Given the description of an element on the screen output the (x, y) to click on. 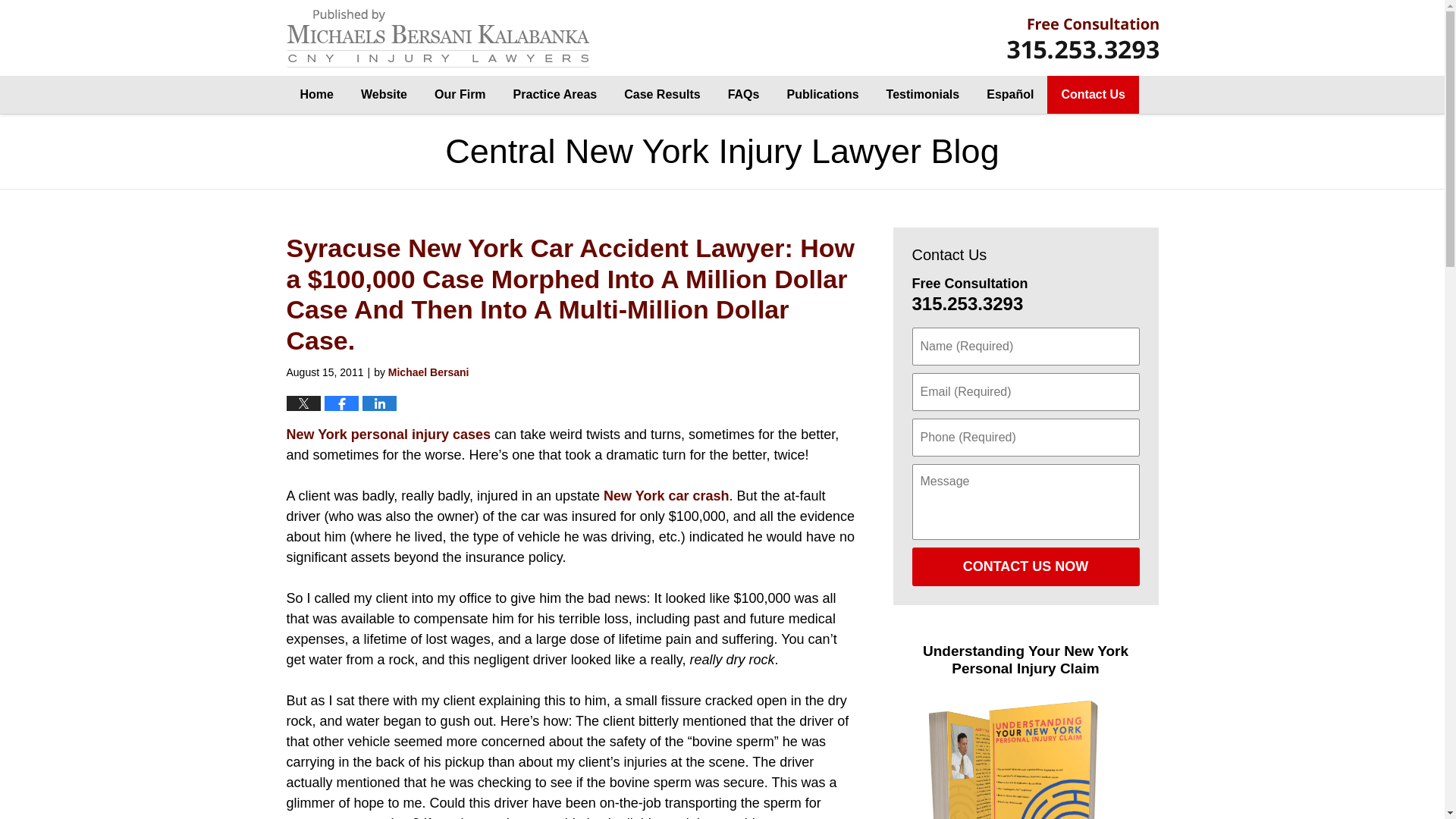
Our Firm (459, 94)
Home (316, 94)
Case Results (662, 94)
Please enter a valid phone number. (1024, 437)
New York personal injury cases (390, 434)
Michael Bersani (428, 372)
Contact Us (1092, 94)
CONTACT US NOW (1024, 567)
Practice Areas (555, 94)
Website (383, 94)
